Given the description of an element on the screen output the (x, y) to click on. 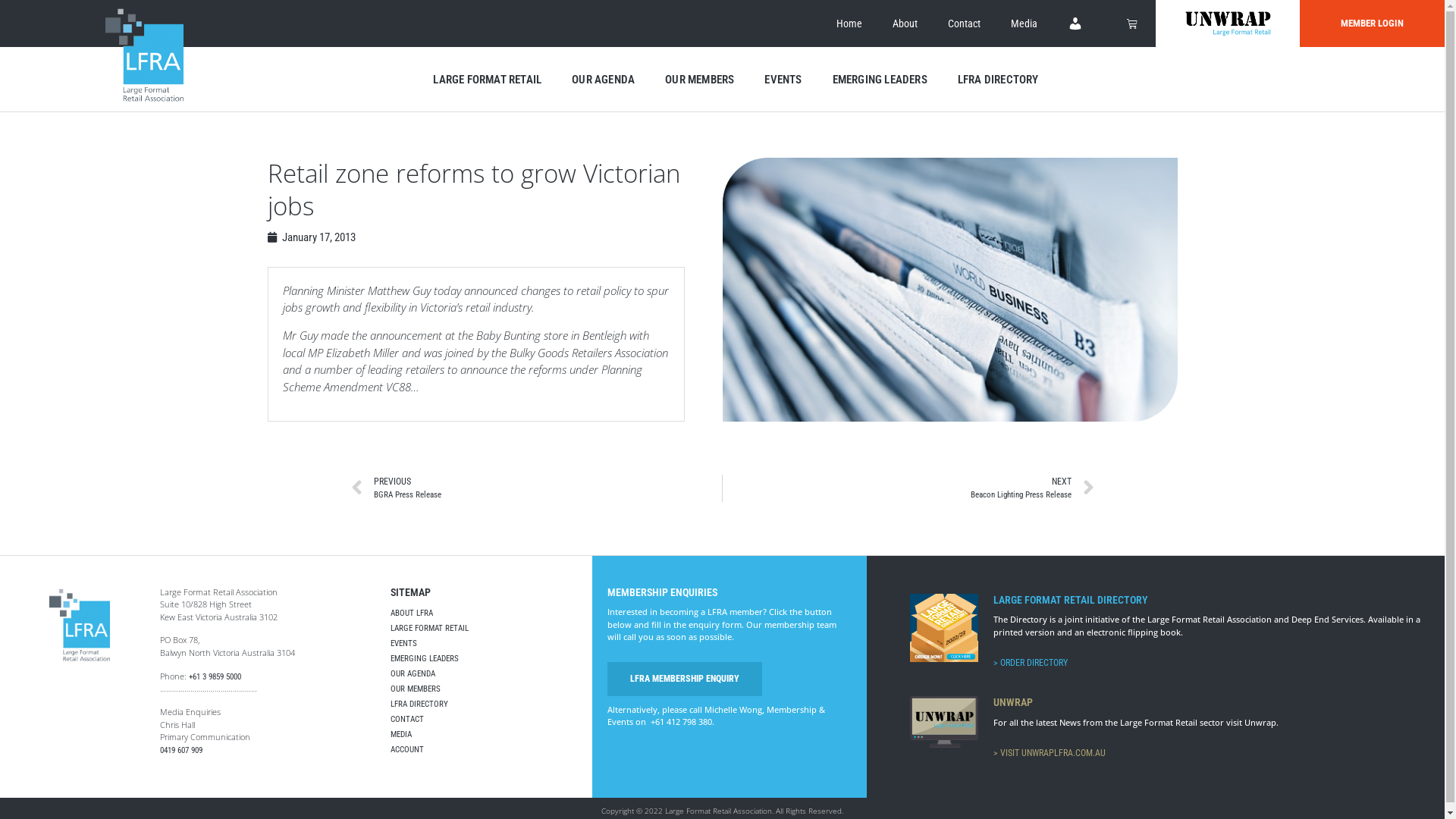
EVENTS Element type: text (782, 79)
About Element type: text (904, 23)
+61 3 9859 5000 Element type: text (214, 676)
ACCOUNT Element type: text (483, 749)
LARGE FORMAT RETAIL Element type: text (483, 628)
OUR MEMBERS Element type: text (699, 79)
> VISIT UNWRAPLFRA.COM.AU Element type: text (1049, 752)
LFRA DIRECTORY Element type: text (998, 79)
Home Element type: text (849, 23)
EMERGING LEADERS Element type: text (483, 658)
January 17, 2013 Element type: text (310, 237)
EMERGING LEADERS Element type: text (879, 79)
PREVIOUS
BGRA Press Release Element type: text (535, 488)
0419 607 909 Element type: text (180, 750)
CONTACT Element type: text (483, 719)
EVENTS Element type: text (483, 643)
OUR MEMBERS Element type: text (483, 688)
LFRA DIRECTORY Element type: text (483, 704)
MEDIA Element type: text (483, 734)
OUR AGENDA Element type: text (602, 79)
LFRA MEMBERSHIP ENQUIRY Element type: text (684, 678)
OUR AGENDA Element type: text (483, 673)
> ORDER DIRECTORY Element type: text (1030, 662)
ABOUT LFRA Element type: text (483, 613)
Media Element type: text (1023, 23)
MEMBER LOGIN Element type: text (1372, 23)
Contact Element type: text (963, 23)
NEXT
Beacon Lighting Press Release Element type: text (908, 488)
LARGE FORMAT RETAIL Element type: text (486, 79)
